Given the description of an element on the screen output the (x, y) to click on. 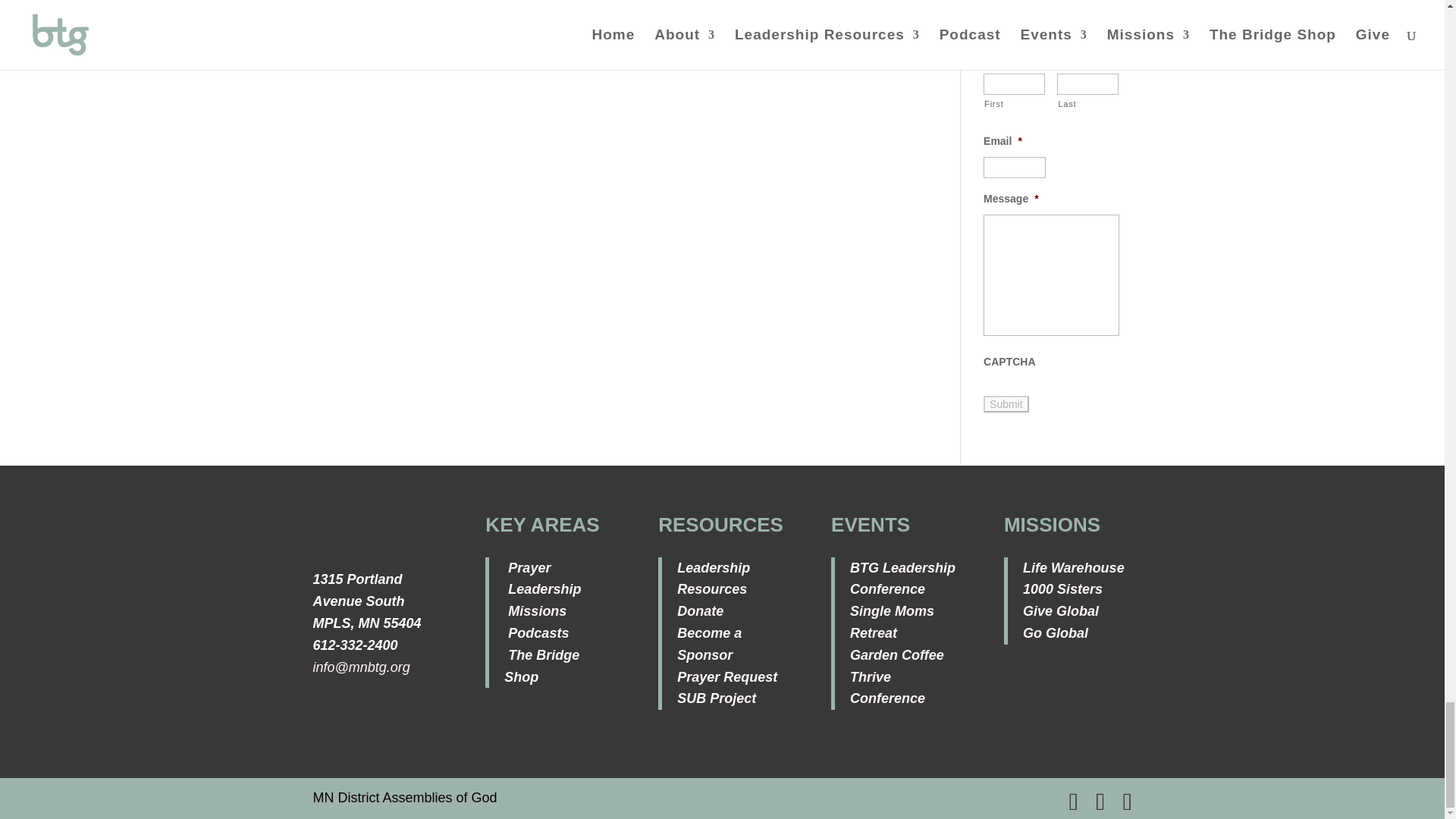
Submit (1006, 403)
